Given the description of an element on the screen output the (x, y) to click on. 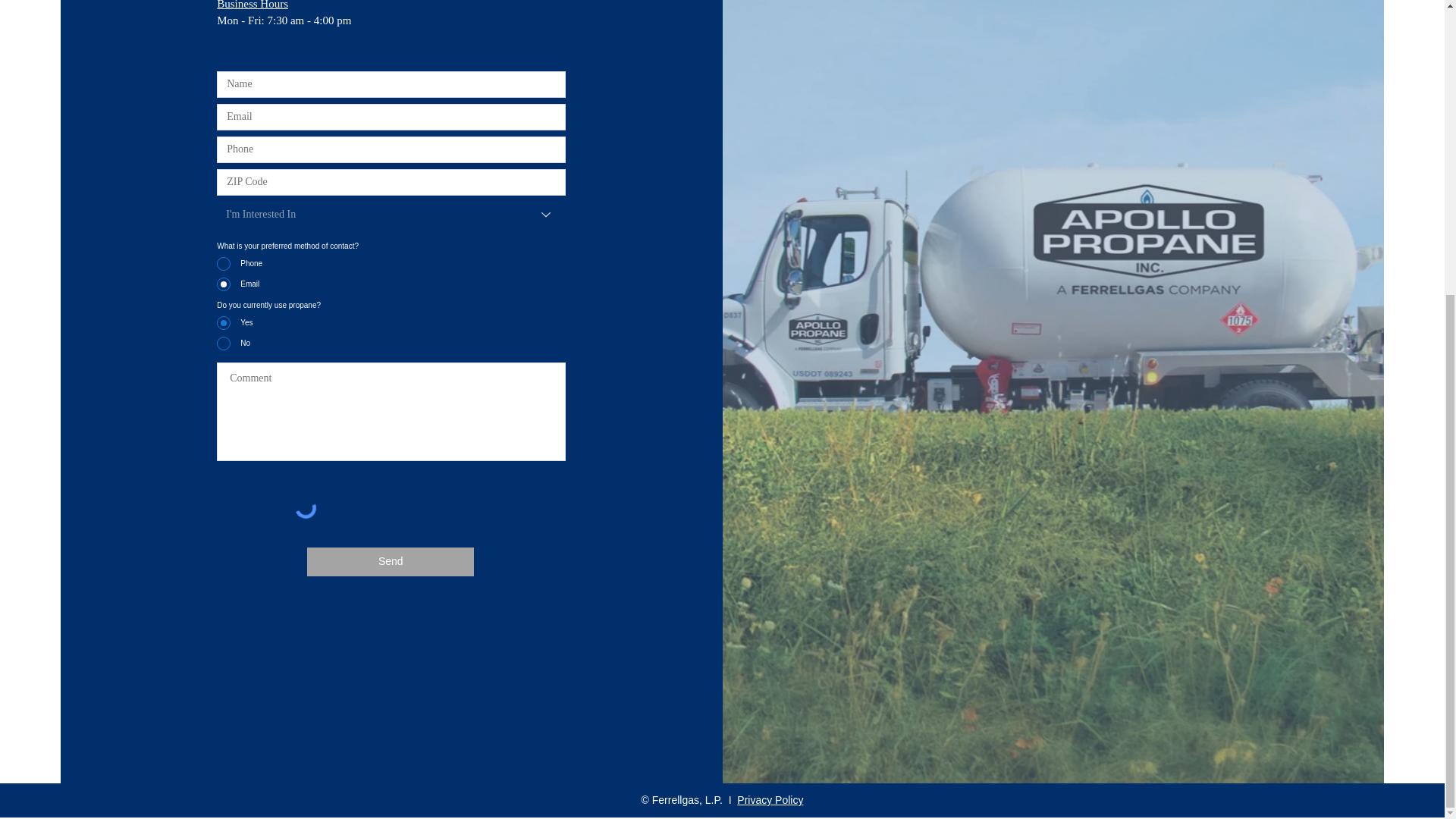
Privacy Policy (769, 799)
Send (390, 561)
